Given the description of an element on the screen output the (x, y) to click on. 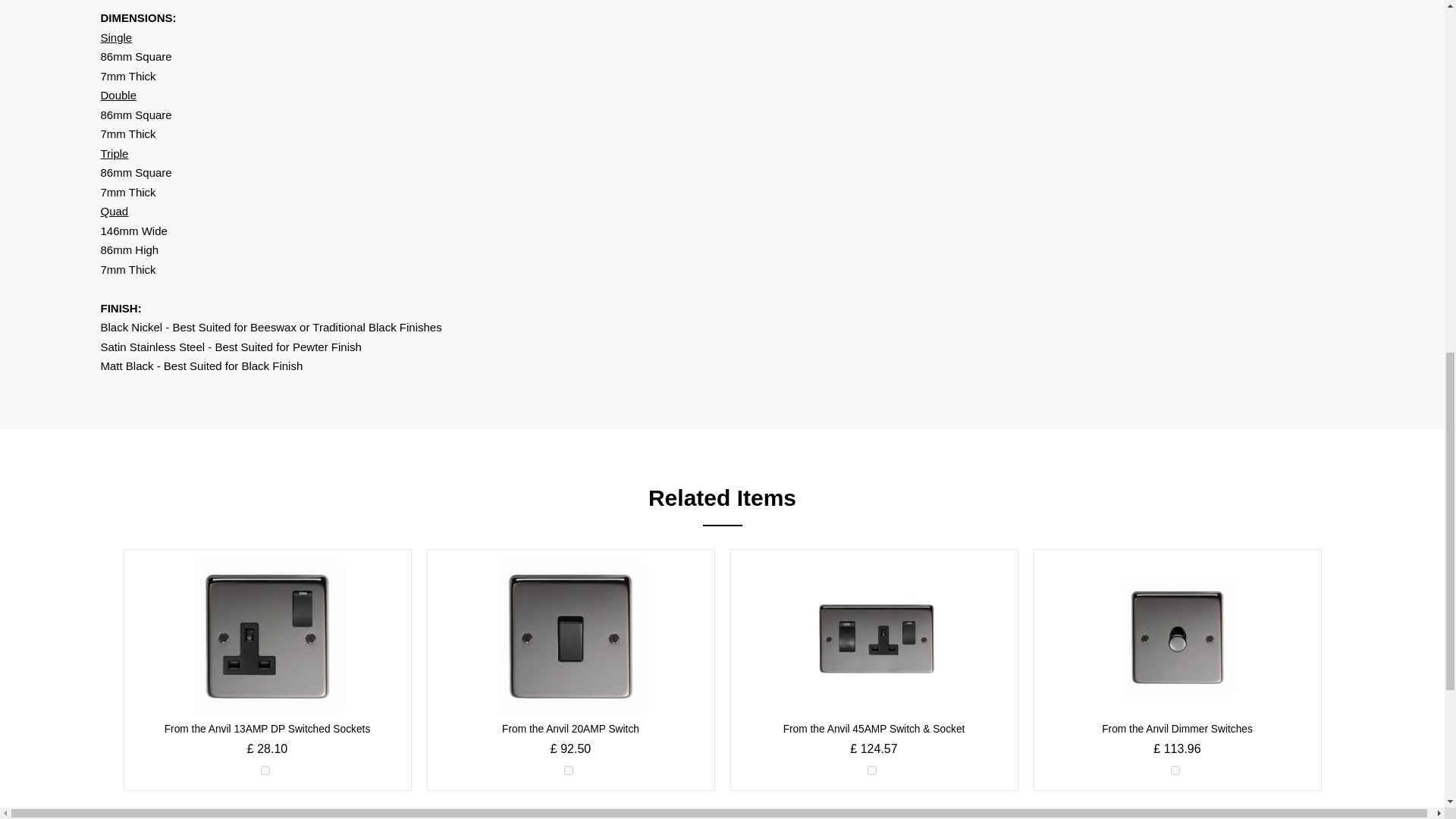
26044881 (568, 769)
26045088 (264, 769)
26046483 (871, 769)
26046854 (1174, 769)
